Given the description of an element on the screen output the (x, y) to click on. 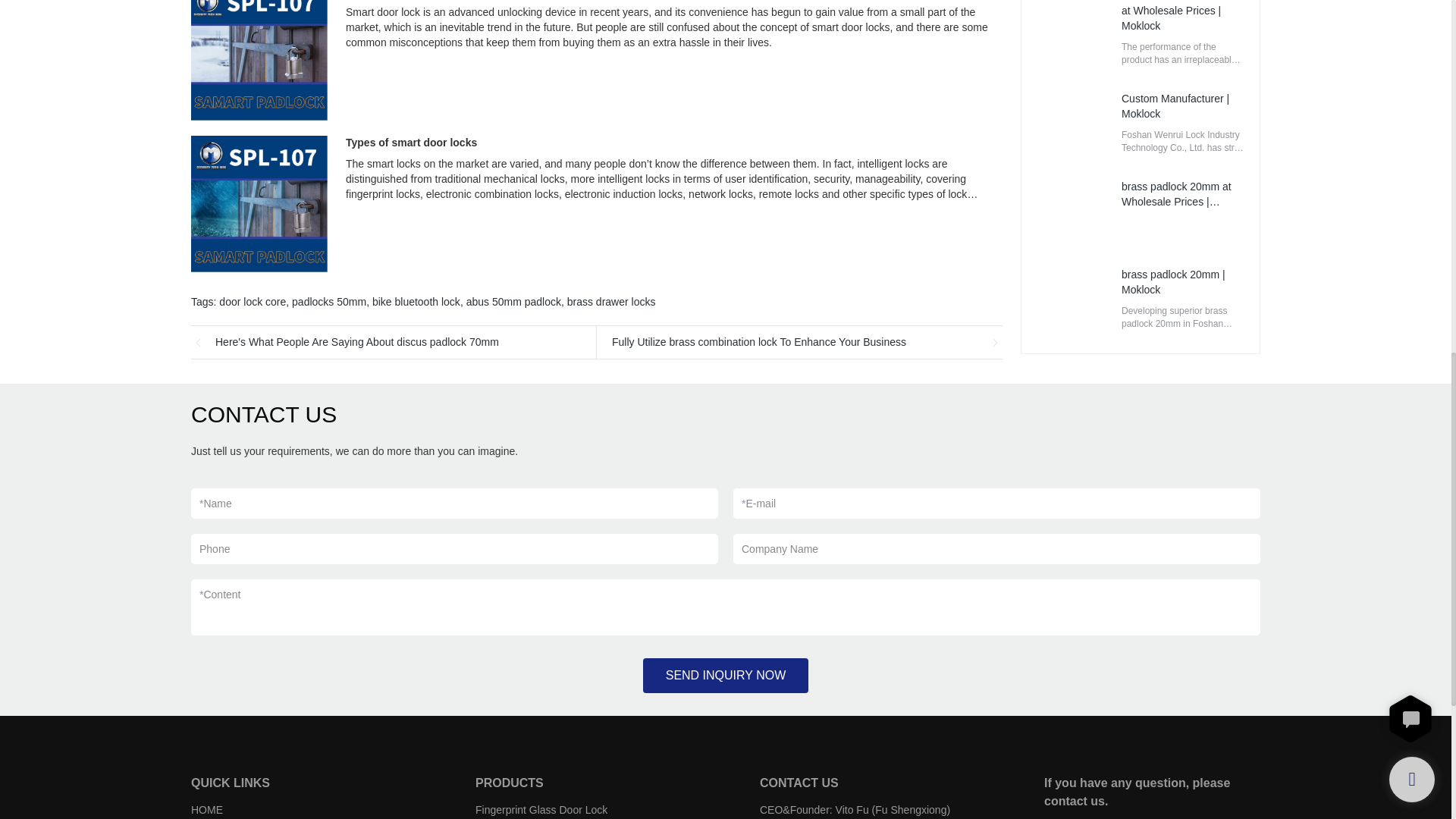
Types of smart door locks (411, 142)
door lock core (252, 301)
bike bluetooth lock (416, 301)
padlocks 50mm (329, 301)
